Given the description of an element on the screen output the (x, y) to click on. 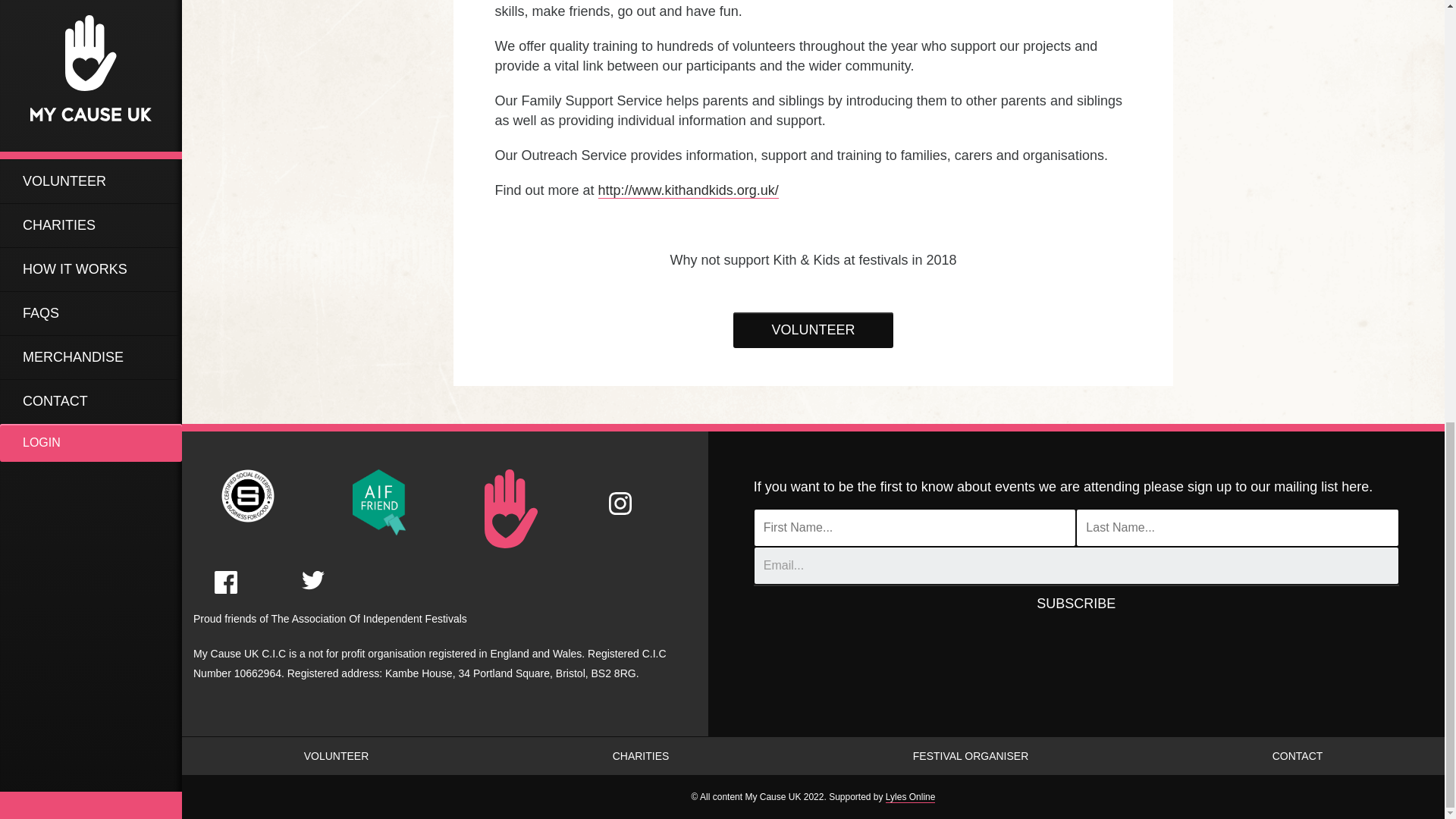
Subscribe (1076, 603)
My Cause UK (619, 491)
My Cause UK (379, 500)
My Cause UK (248, 494)
My Cause UK (312, 567)
Lyles Online (910, 797)
My Cause UK (510, 507)
FESTIVAL ORGANISER (970, 755)
CHARITIES (640, 755)
VOLUNTEER (812, 330)
